Given the description of an element on the screen output the (x, y) to click on. 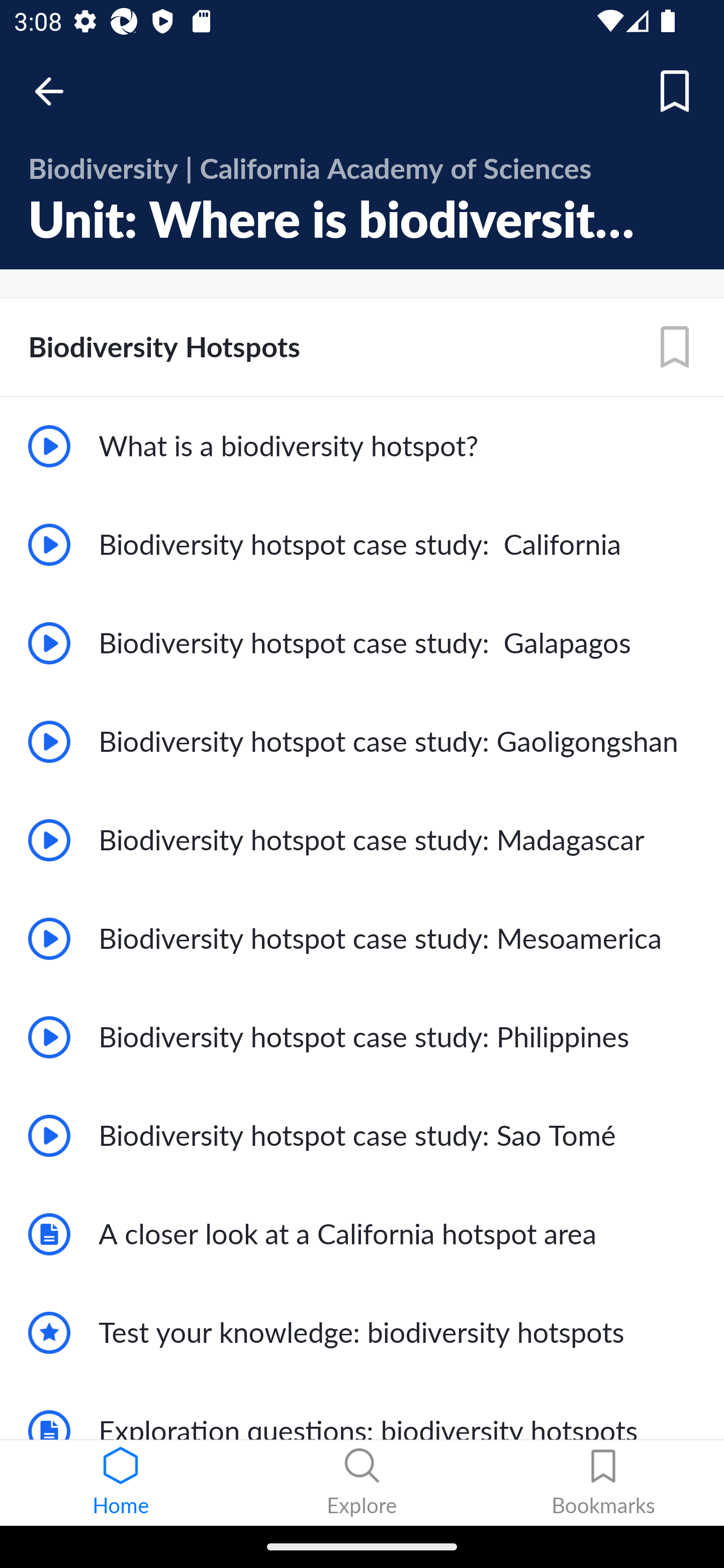
Back (58, 91)
Add Bookmark (674, 91)
Add Bookmark (674, 347)
What is a biodiversity hotspot? (362, 445)
Biodiversity hotspot case study:  California (362, 544)
Biodiversity hotspot case study:  Galapagos (362, 643)
Biodiversity hotspot case study: Gaoligongshan (362, 741)
Biodiversity hotspot case study: Madagascar (362, 839)
Biodiversity hotspot case study: Mesoamerica (362, 938)
Biodiversity hotspot case study: Philippines (362, 1036)
Biodiversity hotspot case study: Sao Tomé (362, 1135)
A closer look at a California hotspot area (362, 1234)
Test your knowledge: biodiversity hotspots (362, 1332)
Home (120, 1482)
Explore (361, 1482)
Bookmarks (603, 1482)
